Given the description of an element on the screen output the (x, y) to click on. 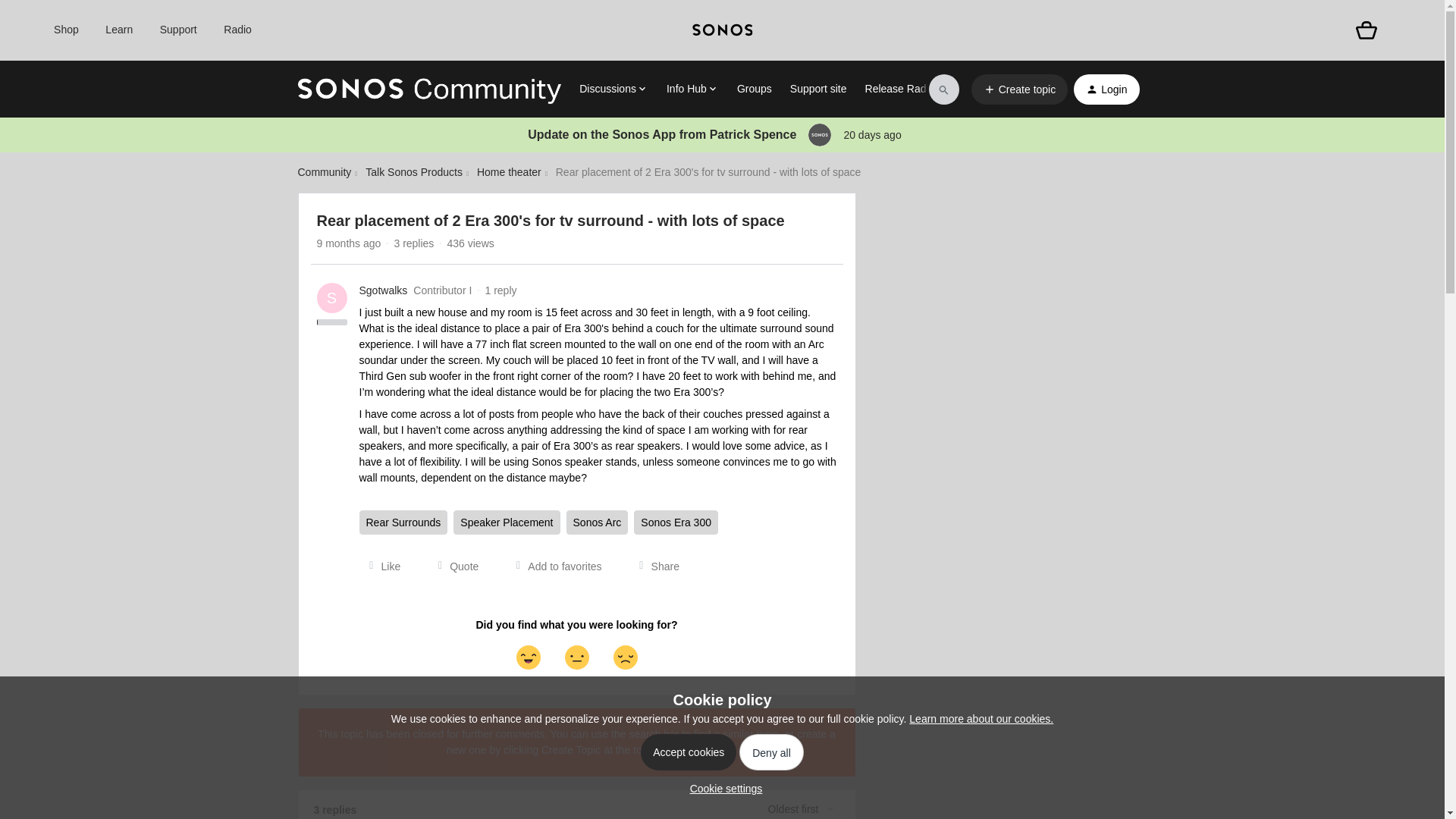
Discussions (613, 88)
Shop (65, 30)
Support (178, 30)
Radio (237, 30)
Learn (118, 30)
